Given the description of an element on the screen output the (x, y) to click on. 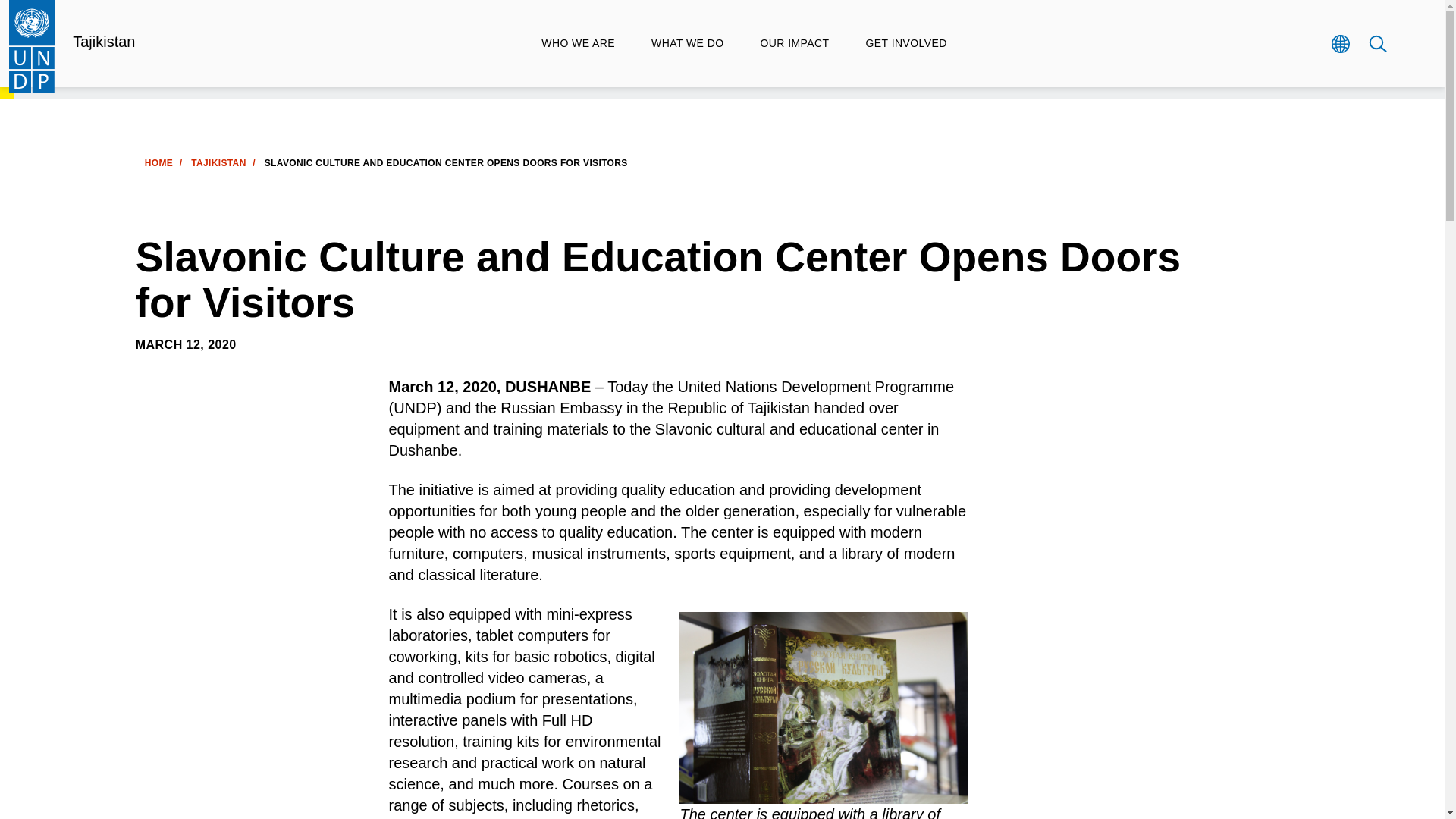
OUR IMPACT (794, 43)
Global (1339, 43)
Search (1377, 43)
GET INVOLVED (906, 43)
WHO WE ARE (577, 43)
Tajikistan (103, 41)
WHAT WE DO (687, 43)
